Given the description of an element on the screen output the (x, y) to click on. 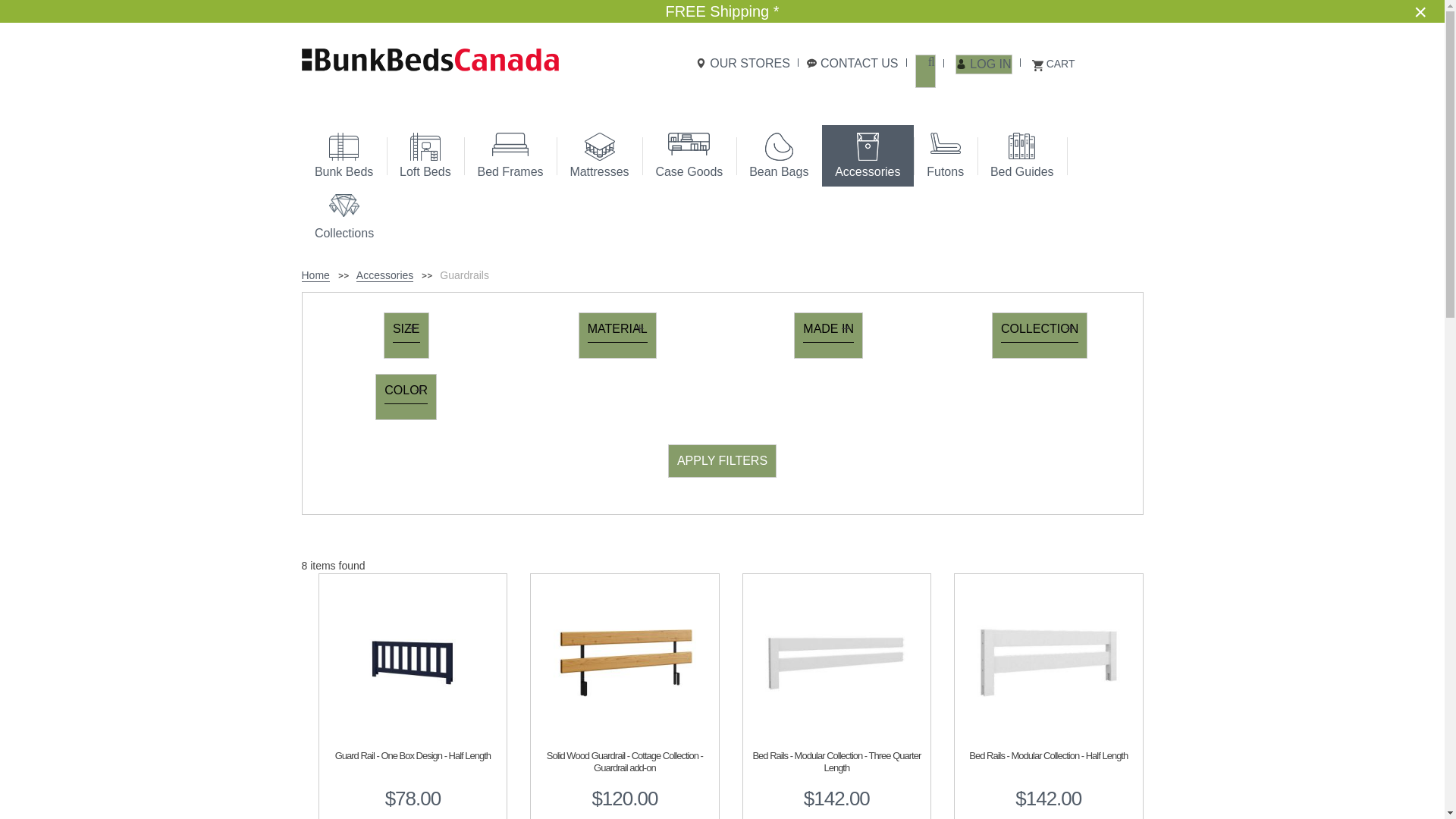
OUR STORES (742, 63)
Bean Bags (779, 155)
Bunk Beds Canada (431, 58)
Futons (945, 155)
MADE IN (828, 335)
Home (315, 275)
Loft Beds (425, 155)
Bunk Beds Canada (431, 58)
CART (1053, 64)
Mattresses (599, 155)
